Given the description of an element on the screen output the (x, y) to click on. 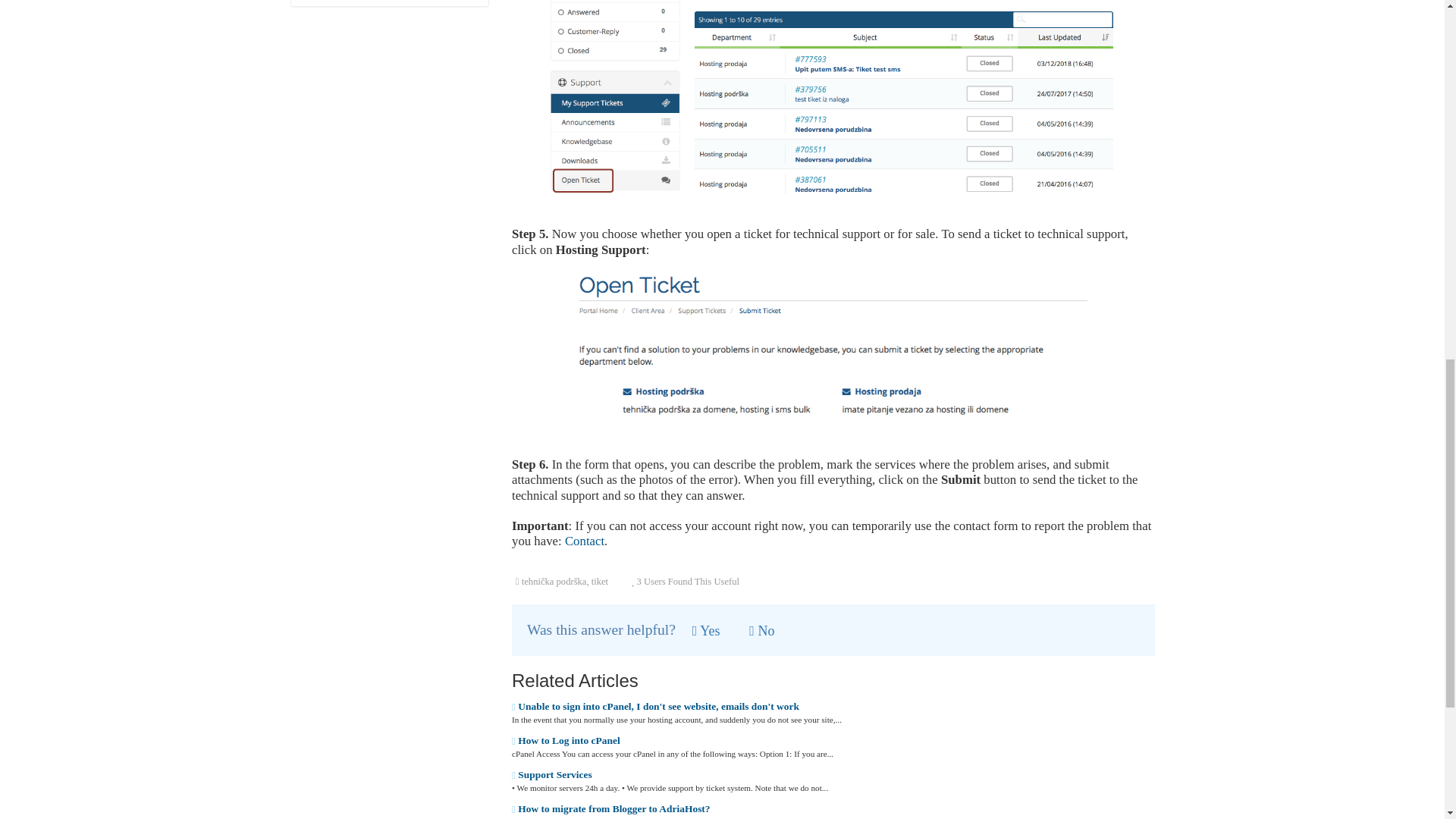
Contact (584, 540)
